Given the description of an element on the screen output the (x, y) to click on. 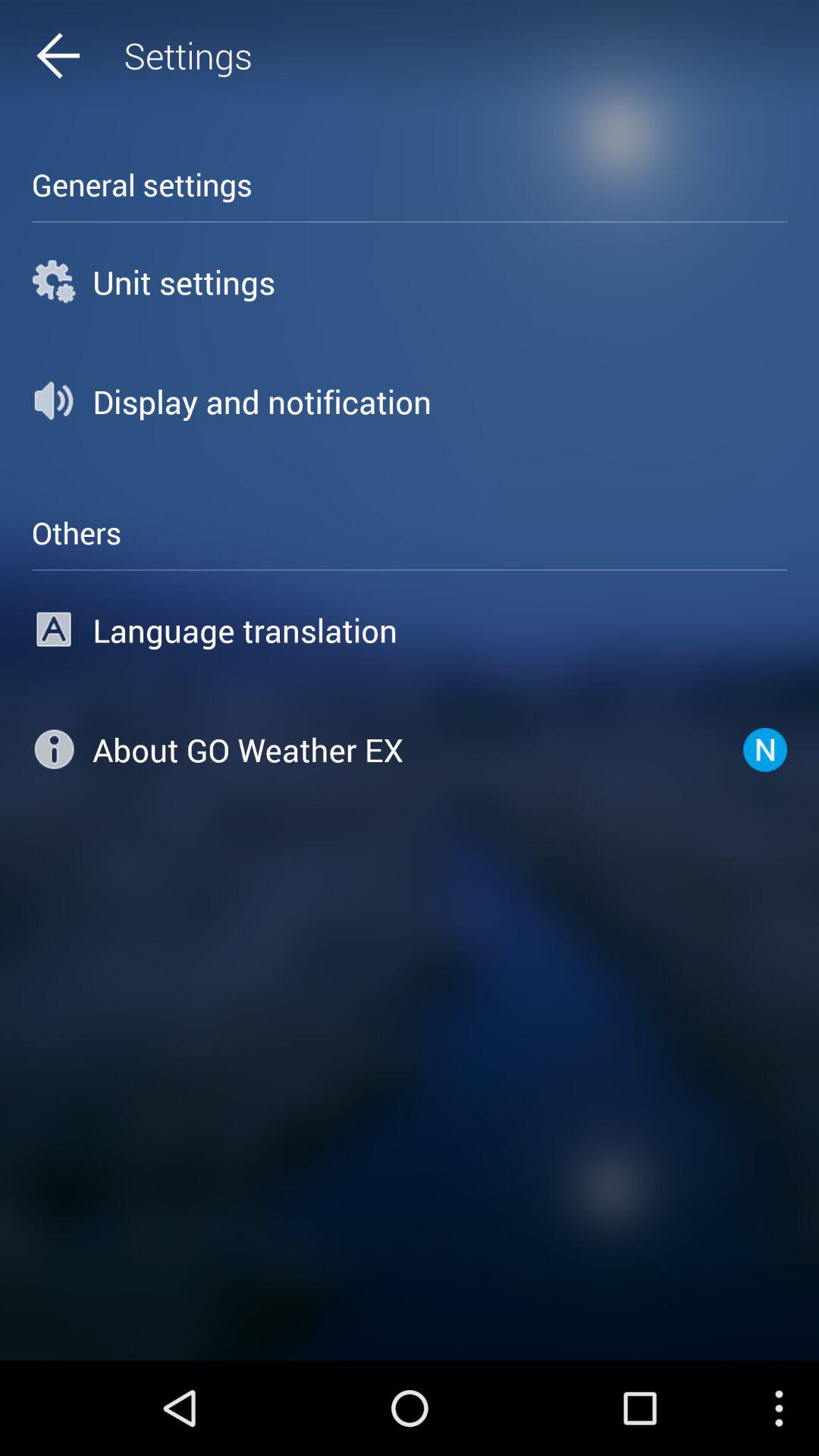
tap item above display and notification (409, 281)
